Given the description of an element on the screen output the (x, y) to click on. 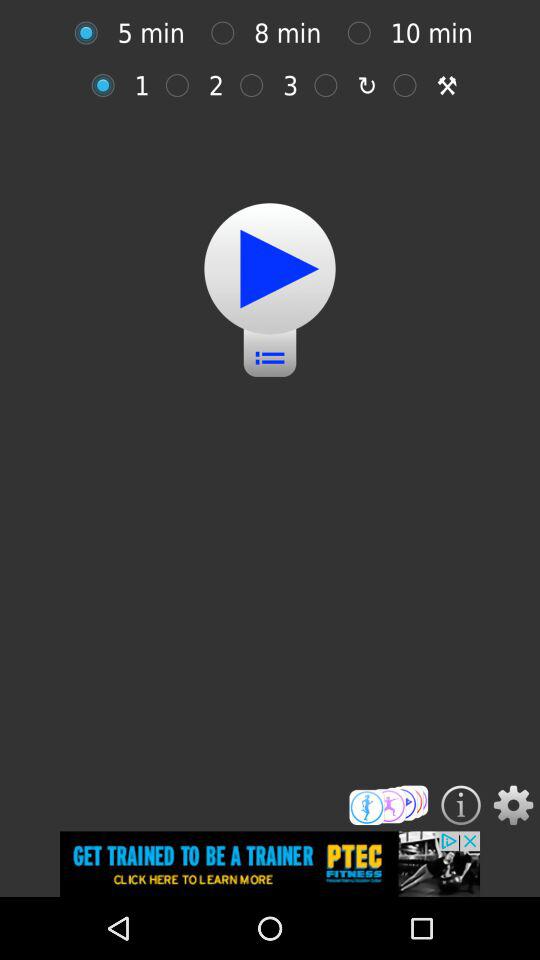
set to 5 minutes (91, 32)
